Given the description of an element on the screen output the (x, y) to click on. 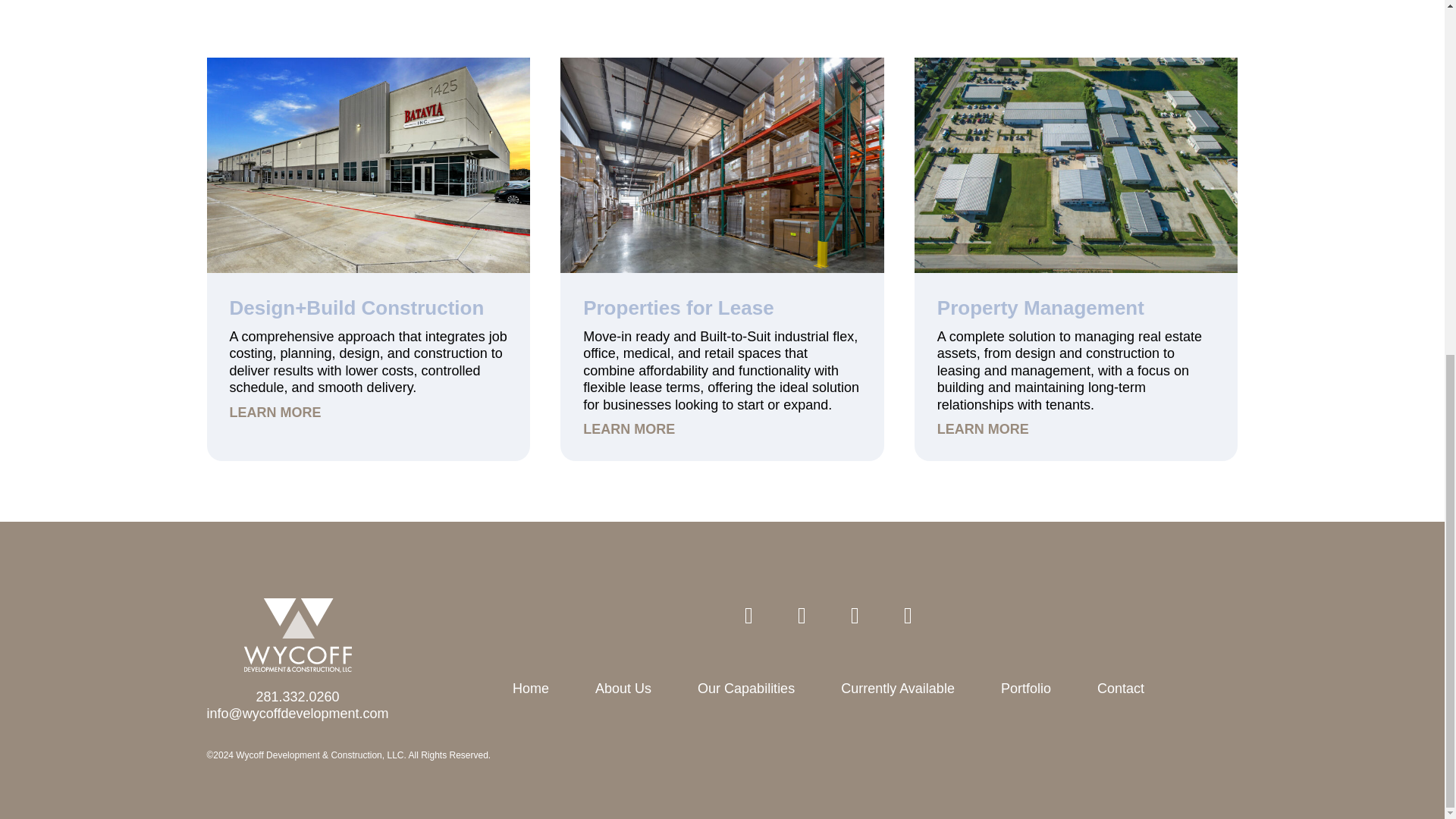
LinkedIn (748, 615)
281.332.0260 (297, 696)
Currently Available (897, 689)
Instagram (854, 615)
Facebook (801, 615)
Property Management (1040, 307)
YouTube (908, 615)
LEARN MORE (367, 412)
LEARN MORE (1076, 429)
Properties for Lease (678, 307)
